Given the description of an element on the screen output the (x, y) to click on. 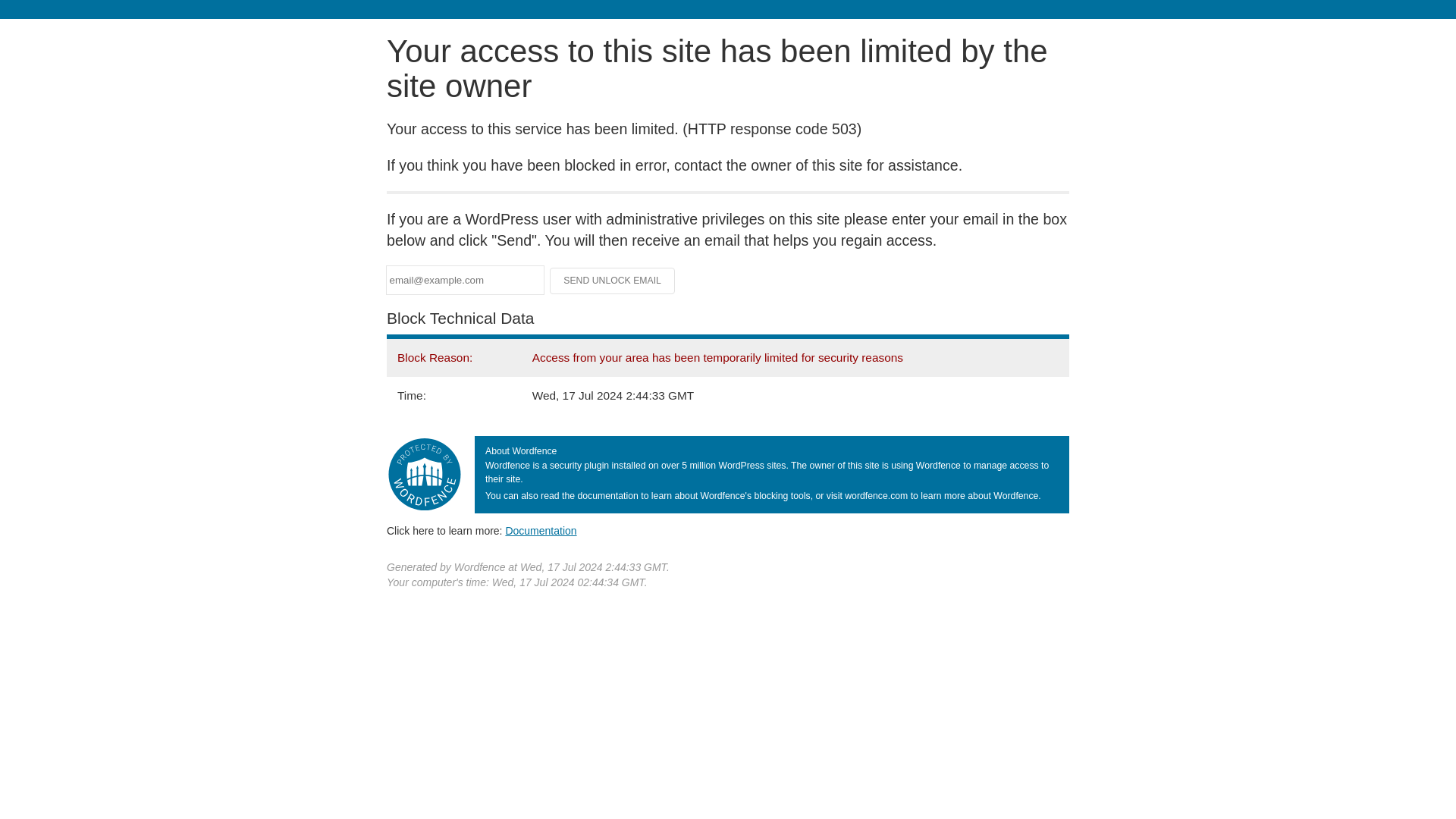
Send Unlock Email (612, 280)
Send Unlock Email (612, 280)
